Given the description of an element on the screen output the (x, y) to click on. 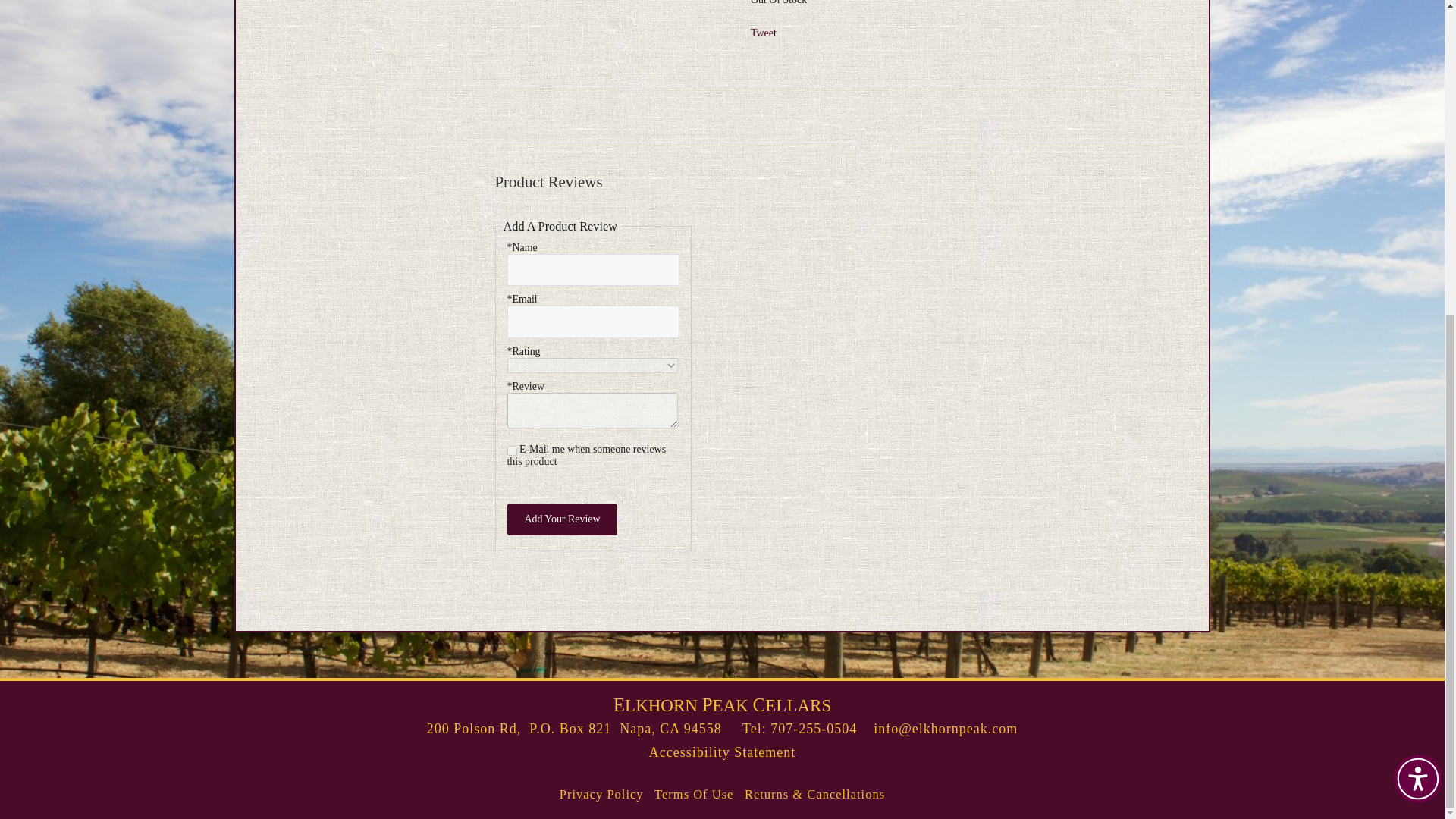
Accessibility Statement (721, 752)
Tweet (763, 32)
Privacy Policy (601, 794)
Accessibility Menu (1417, 272)
Terms Of Use (693, 794)
1 (511, 450)
ELKHORN PEAK CELLARS (721, 705)
Add Your Review (561, 519)
